Given the description of an element on the screen output the (x, y) to click on. 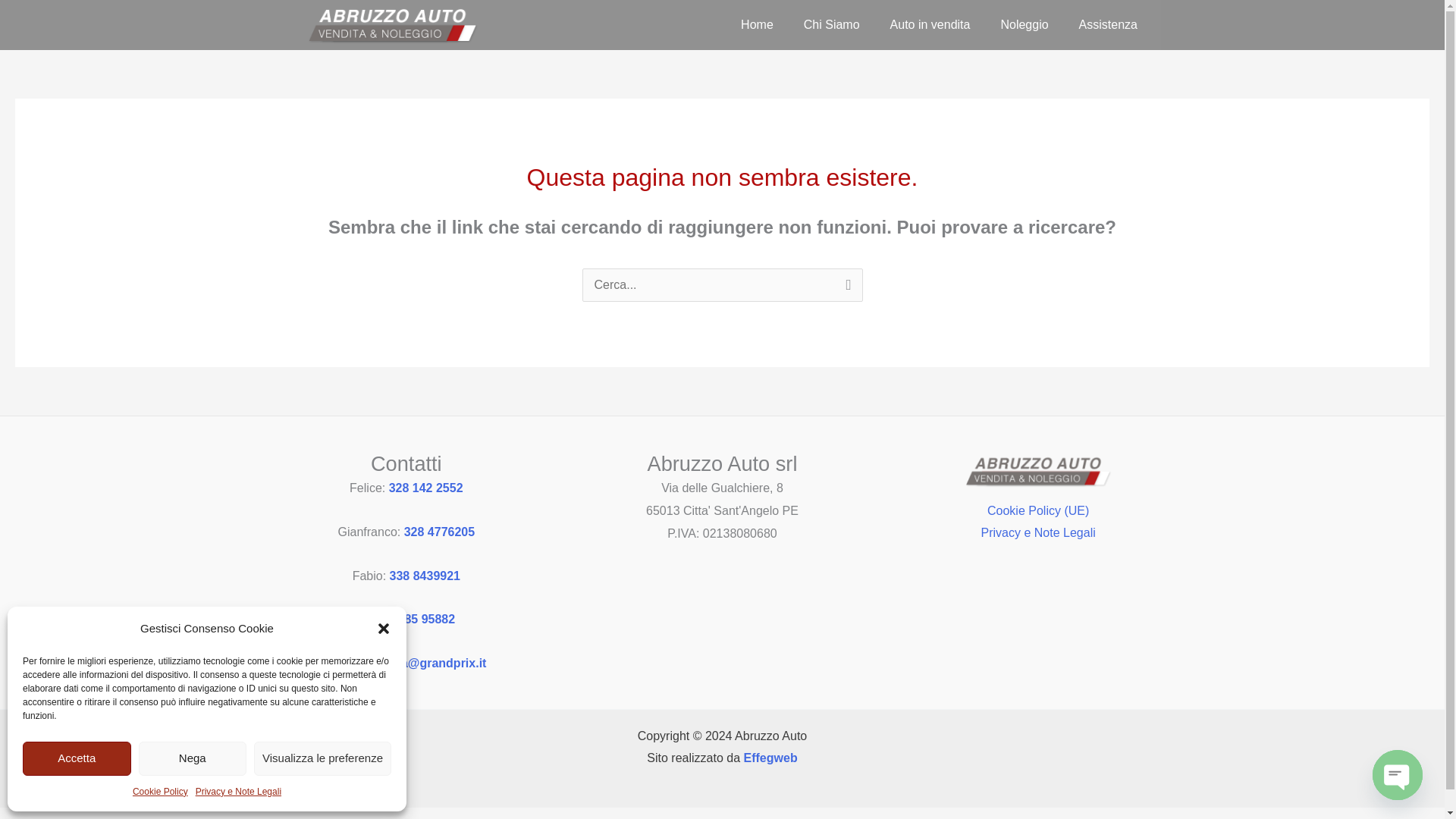
328 4776205 (439, 531)
338 8439921 (425, 575)
Privacy e Note Legali (238, 791)
Visualizza le preferenze (322, 758)
Accetta (77, 758)
Assistenza (1108, 24)
Nega (192, 758)
328 142 2552 (425, 487)
Chi Siamo (832, 24)
Auto in vendita (930, 24)
Cookie Policy (159, 791)
Home (757, 24)
Noleggio (1023, 24)
085 95882 (426, 618)
